Given the description of an element on the screen output the (x, y) to click on. 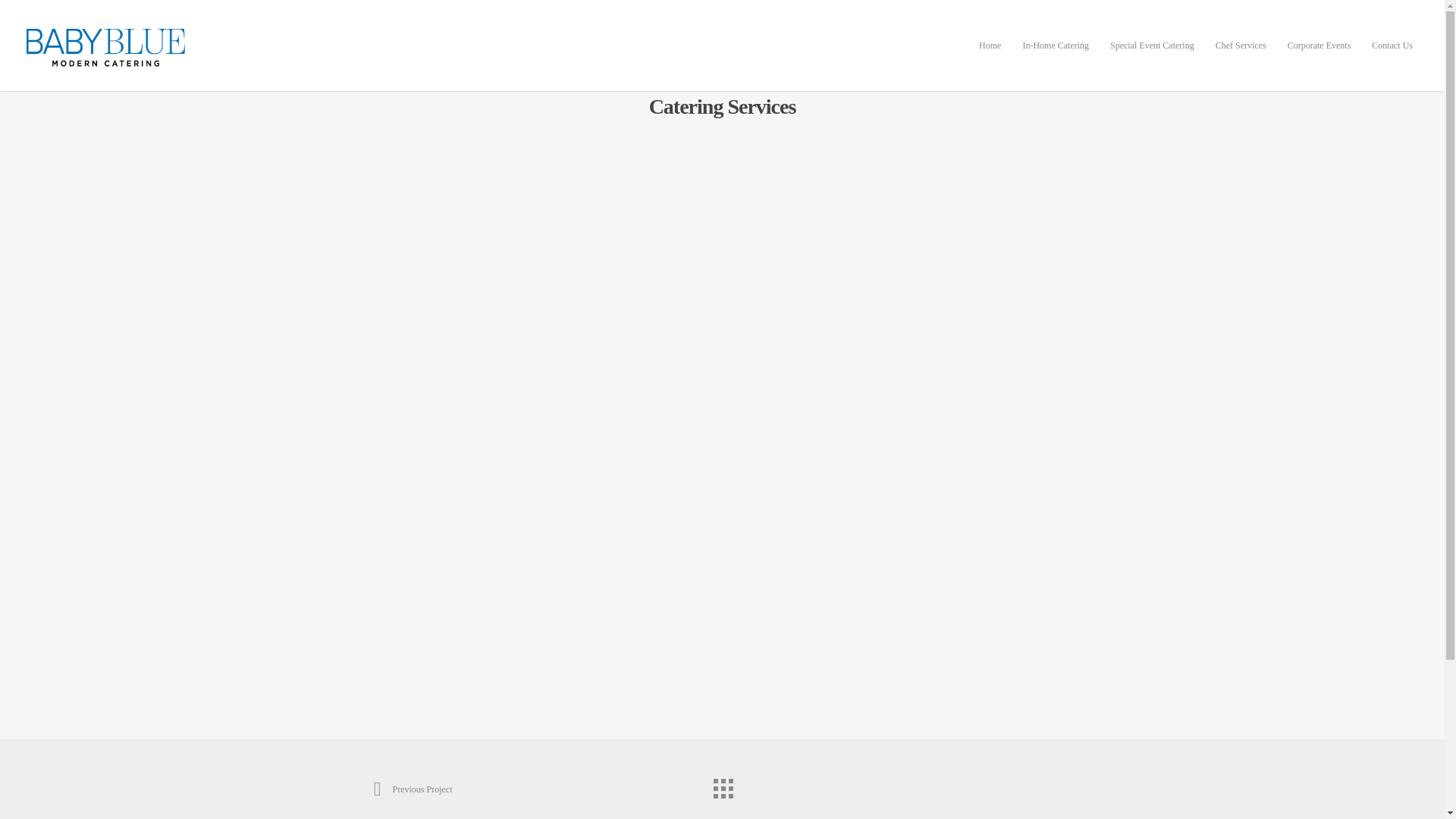
Chef Services (1240, 55)
Special Event Catering (1152, 55)
Corporate Events (1319, 55)
Previous Project (411, 789)
Back to all projects (721, 784)
In-Home Catering (1055, 55)
Submit Comment (722, 653)
